Given the description of an element on the screen output the (x, y) to click on. 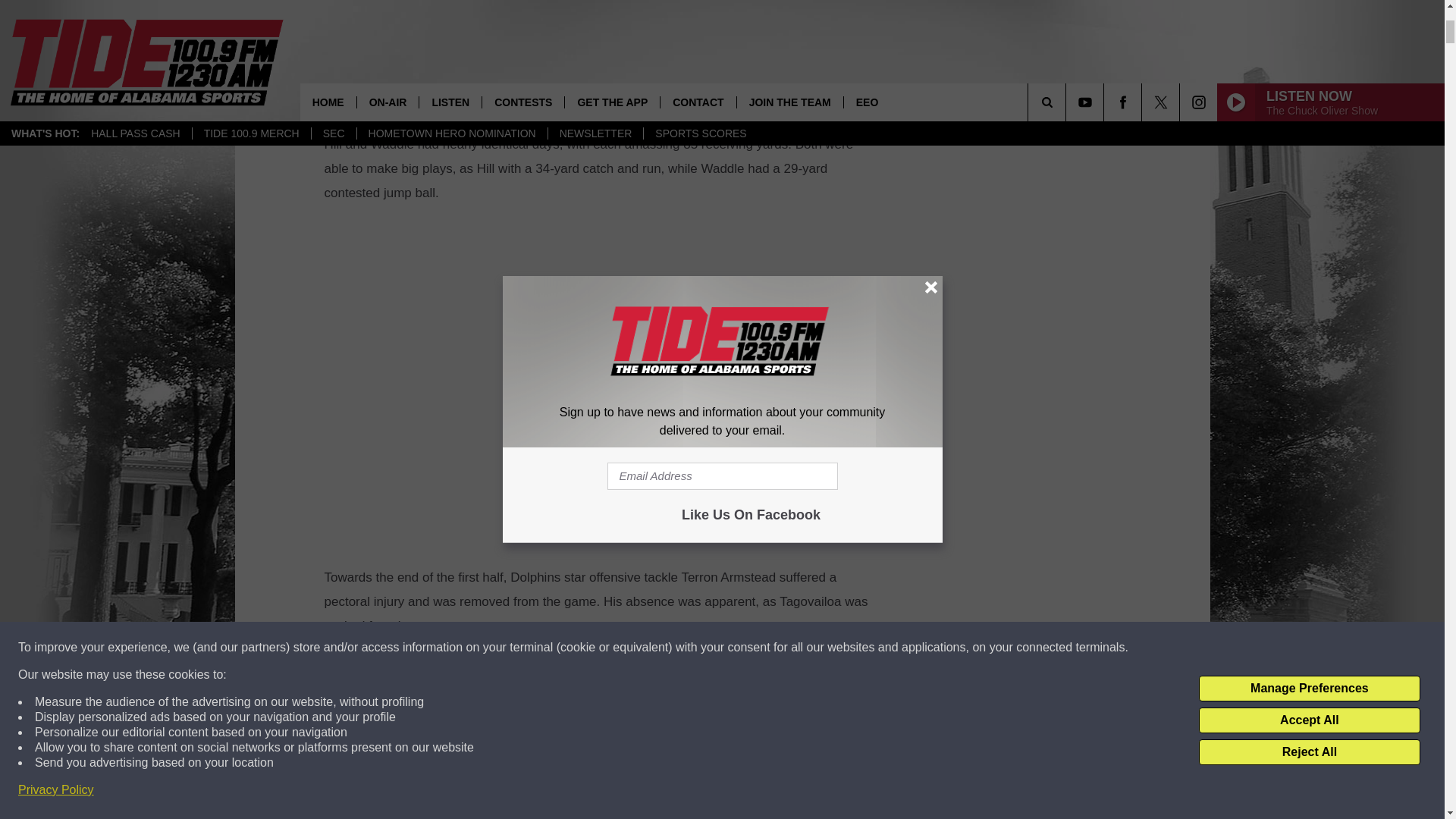
Email Address (600, 84)
